Given the description of an element on the screen output the (x, y) to click on. 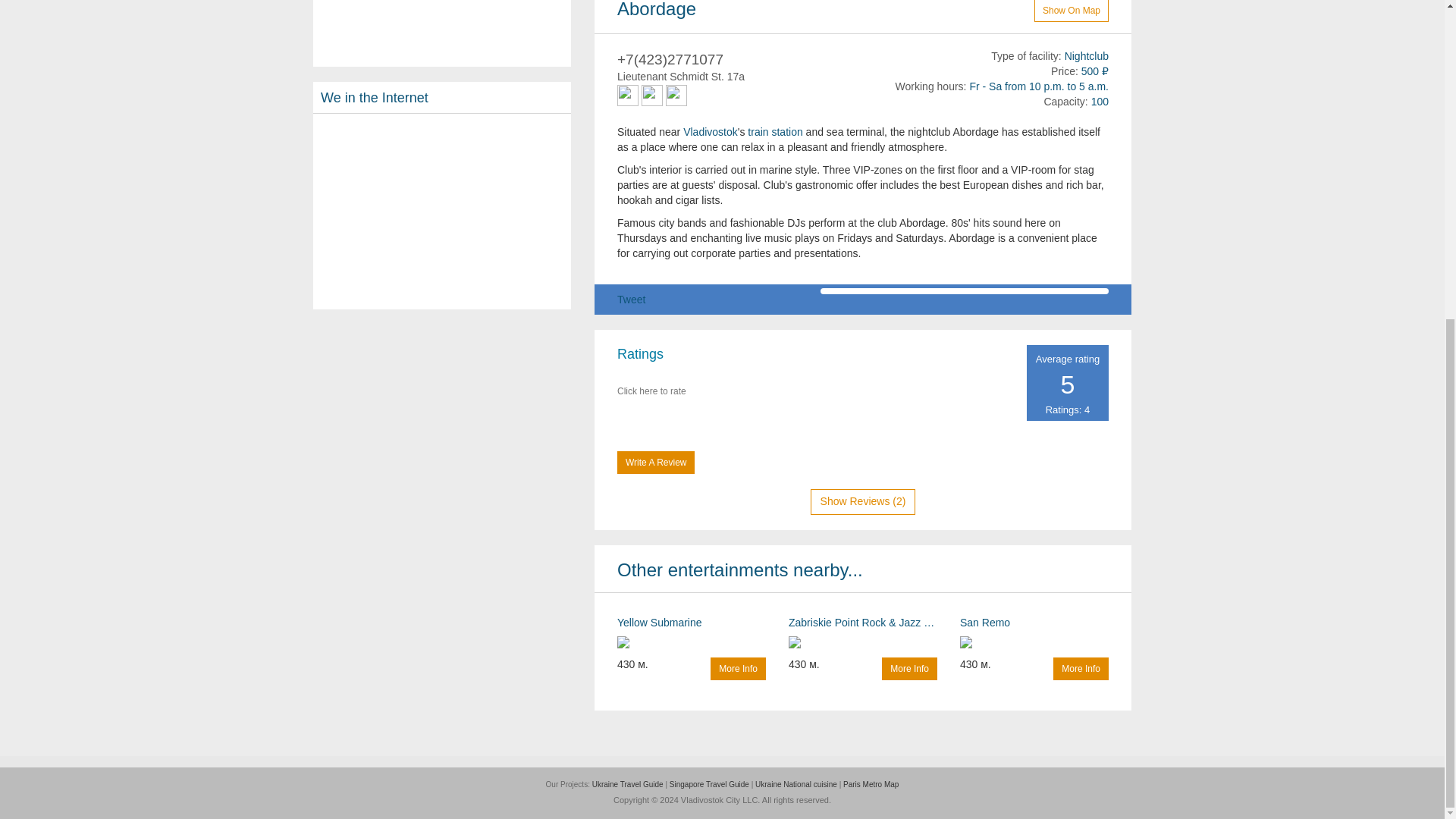
Non-smoking lounge (676, 95)
Favorites (991, 9)
Payment with credit card: Visa  MasterCard  (652, 95)
Live music (628, 95)
